Given the description of an element on the screen output the (x, y) to click on. 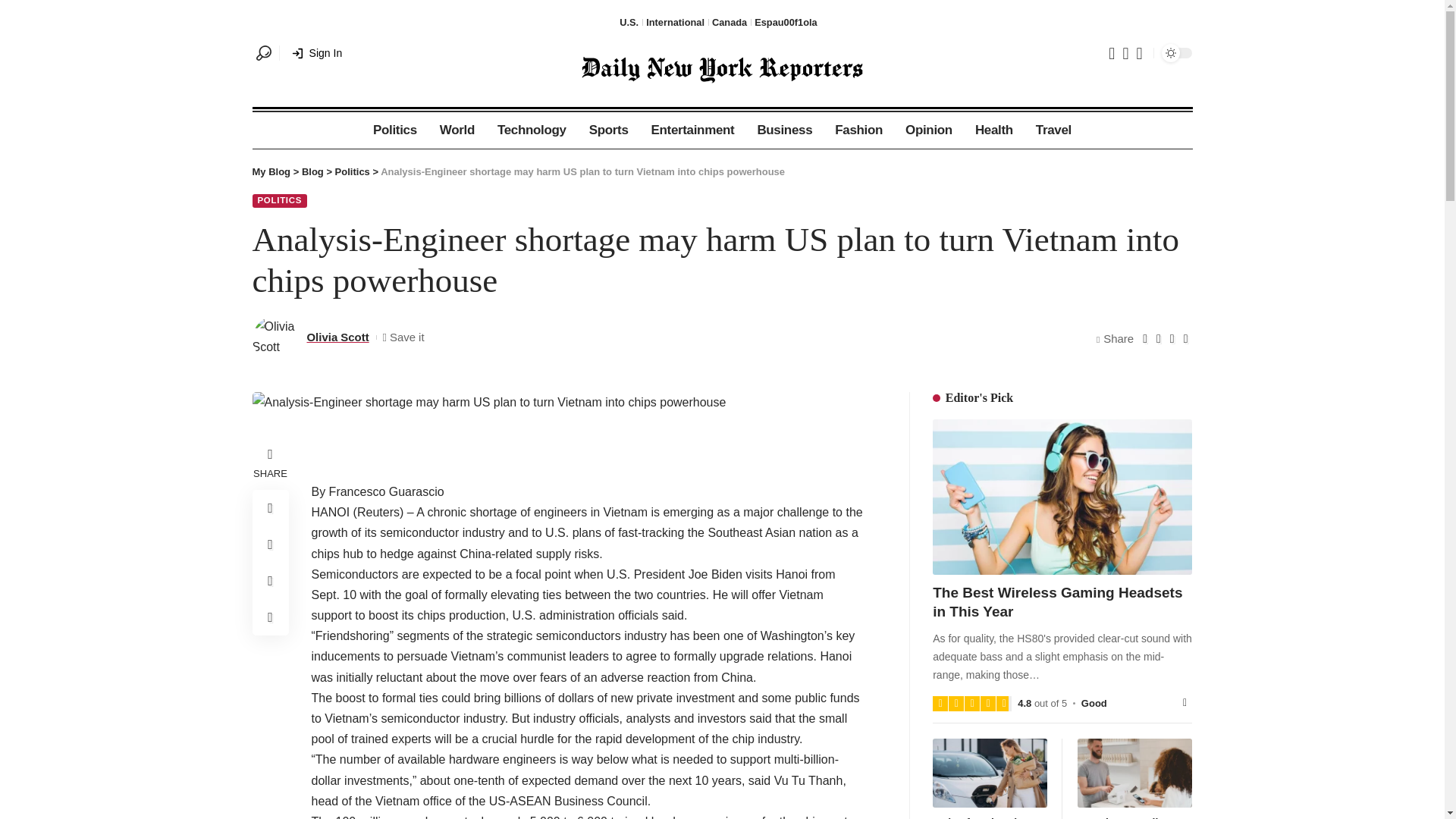
The Best Wireless Gaming Headsets in This Year (1062, 496)
5 Tips for Charging an Electric Vehicle More Easily (989, 772)
Go to My Blog. (270, 171)
Go to the Politics Category archives. (351, 171)
Fashion (858, 130)
Sports (609, 130)
Technology (532, 130)
Opinion (928, 130)
International (675, 22)
Go to Blog. (312, 171)
Espau00f1ola (785, 22)
Sign In (317, 52)
World (457, 130)
Health (994, 130)
